Given the description of an element on the screen output the (x, y) to click on. 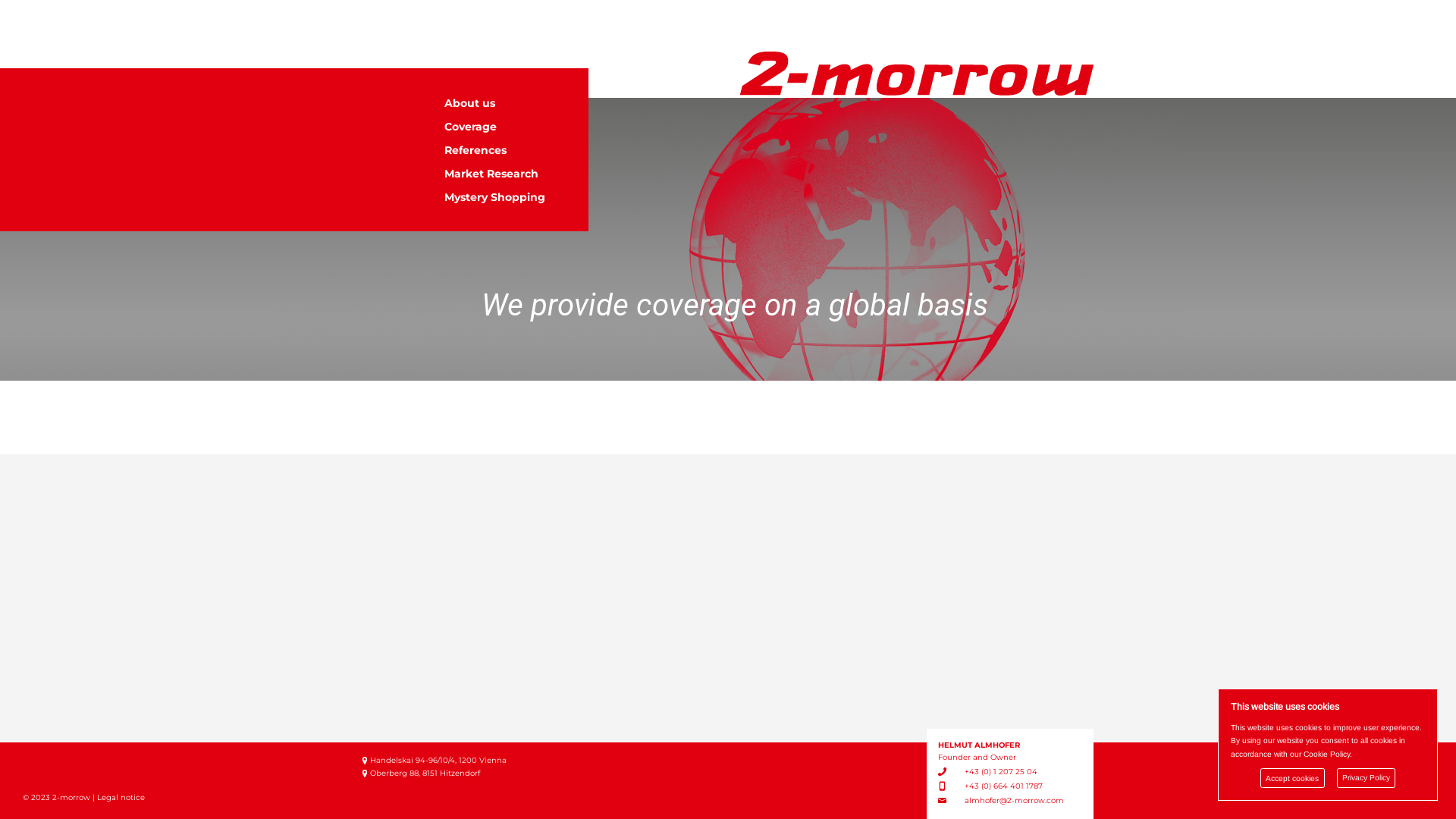
Privacy Policy Element type: text (1365, 777)
Legal notice Element type: text (120, 797)
References Element type: text (504, 149)
Market Research Element type: text (504, 173)
almhofer@2-morrow.com Element type: text (1013, 800)
Mystery Shopping Element type: text (504, 196)
Coverage Element type: text (504, 126)
Accept cookies Element type: text (1292, 777)
About us Element type: text (504, 102)
